Given the description of an element on the screen output the (x, y) to click on. 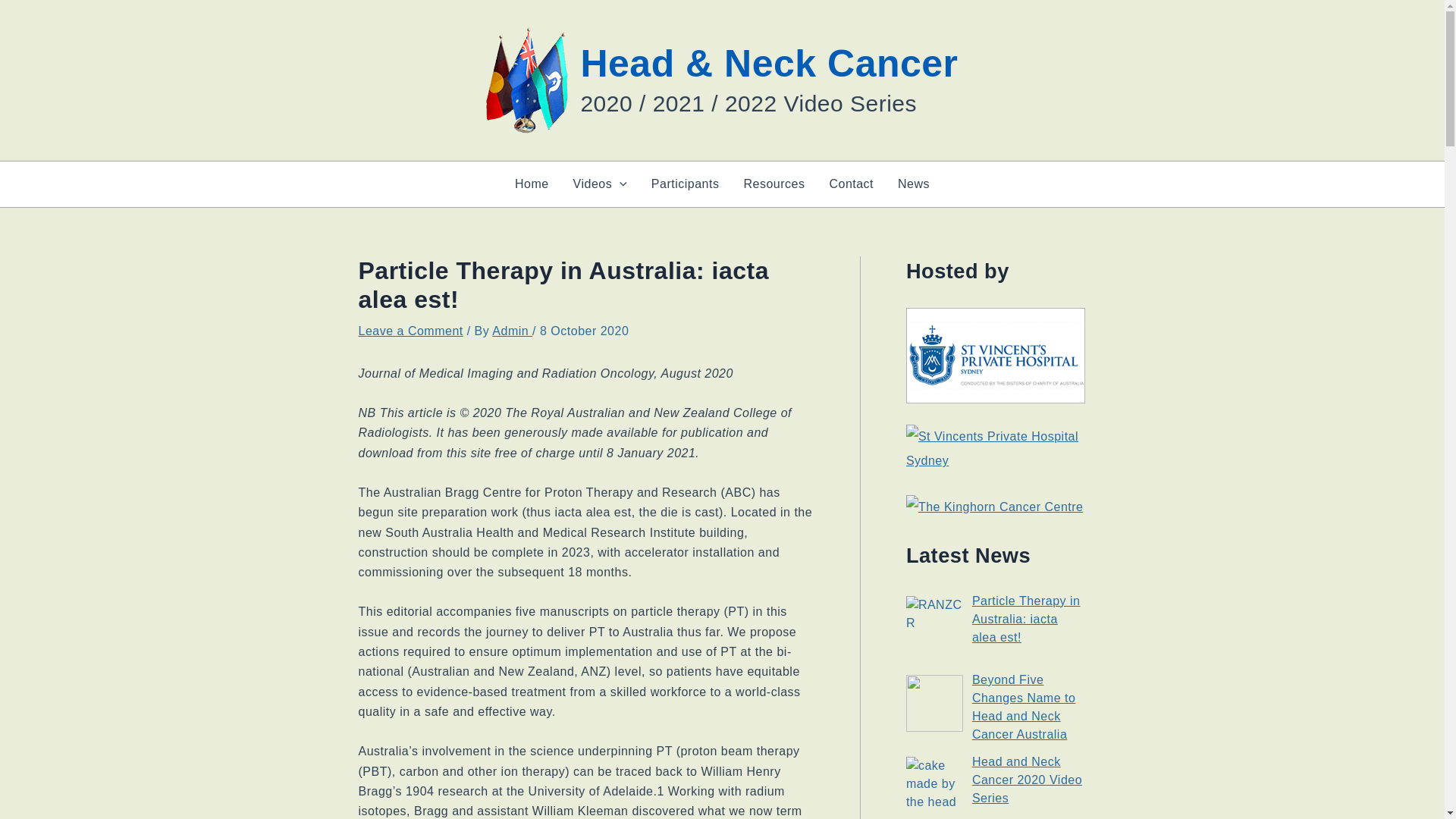
News (913, 184)
Videos (599, 184)
Contact (850, 184)
View all posts by Admin (512, 330)
St Vincents Private Hospital Sydney (995, 355)
Resources (773, 184)
The Kinghorn Cancer Centre (994, 507)
St Vincents Hospital Sydney (995, 449)
Home (531, 184)
Participants (685, 184)
